Given the description of an element on the screen output the (x, y) to click on. 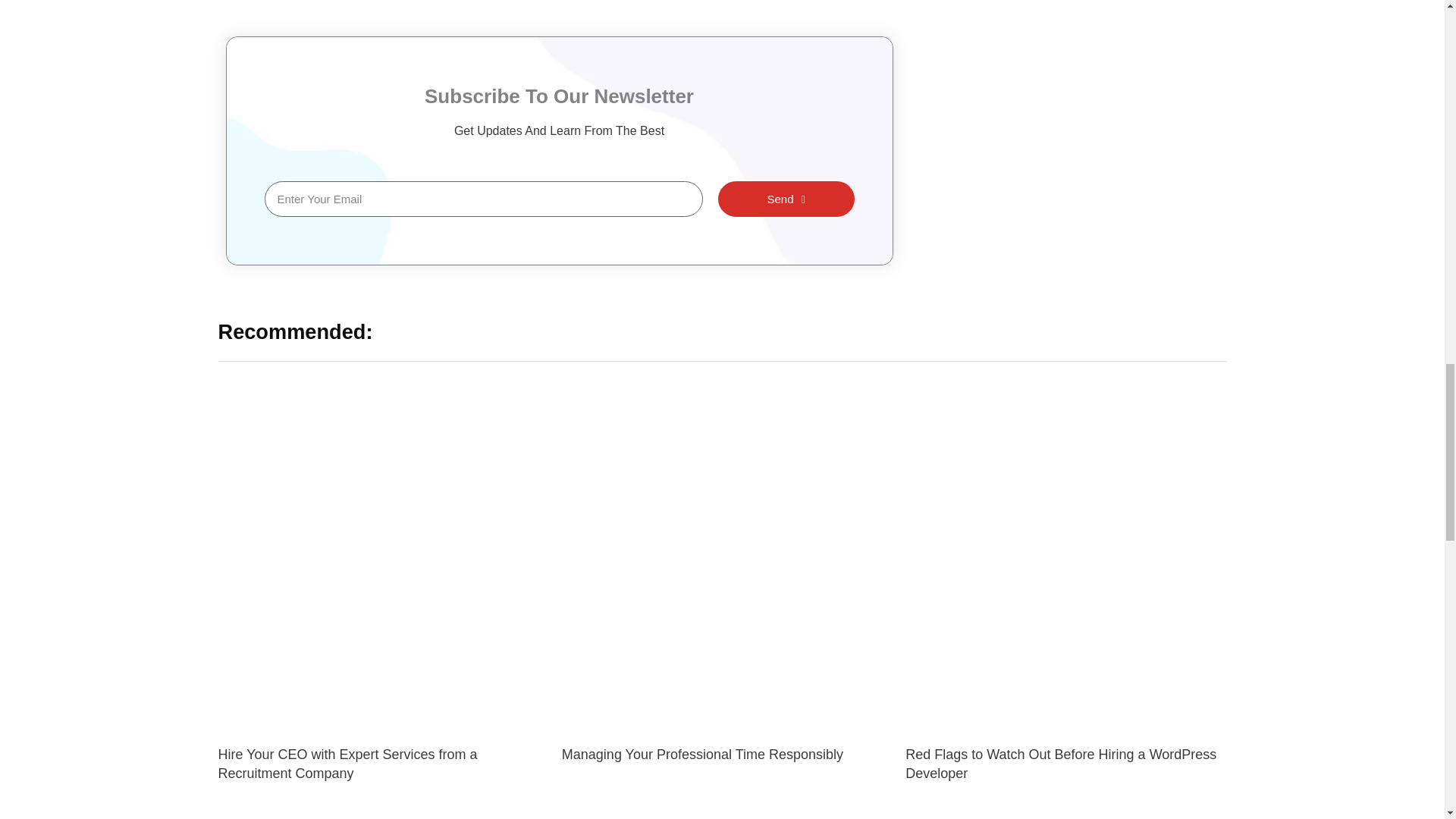
Send (785, 198)
